Given the description of an element on the screen output the (x, y) to click on. 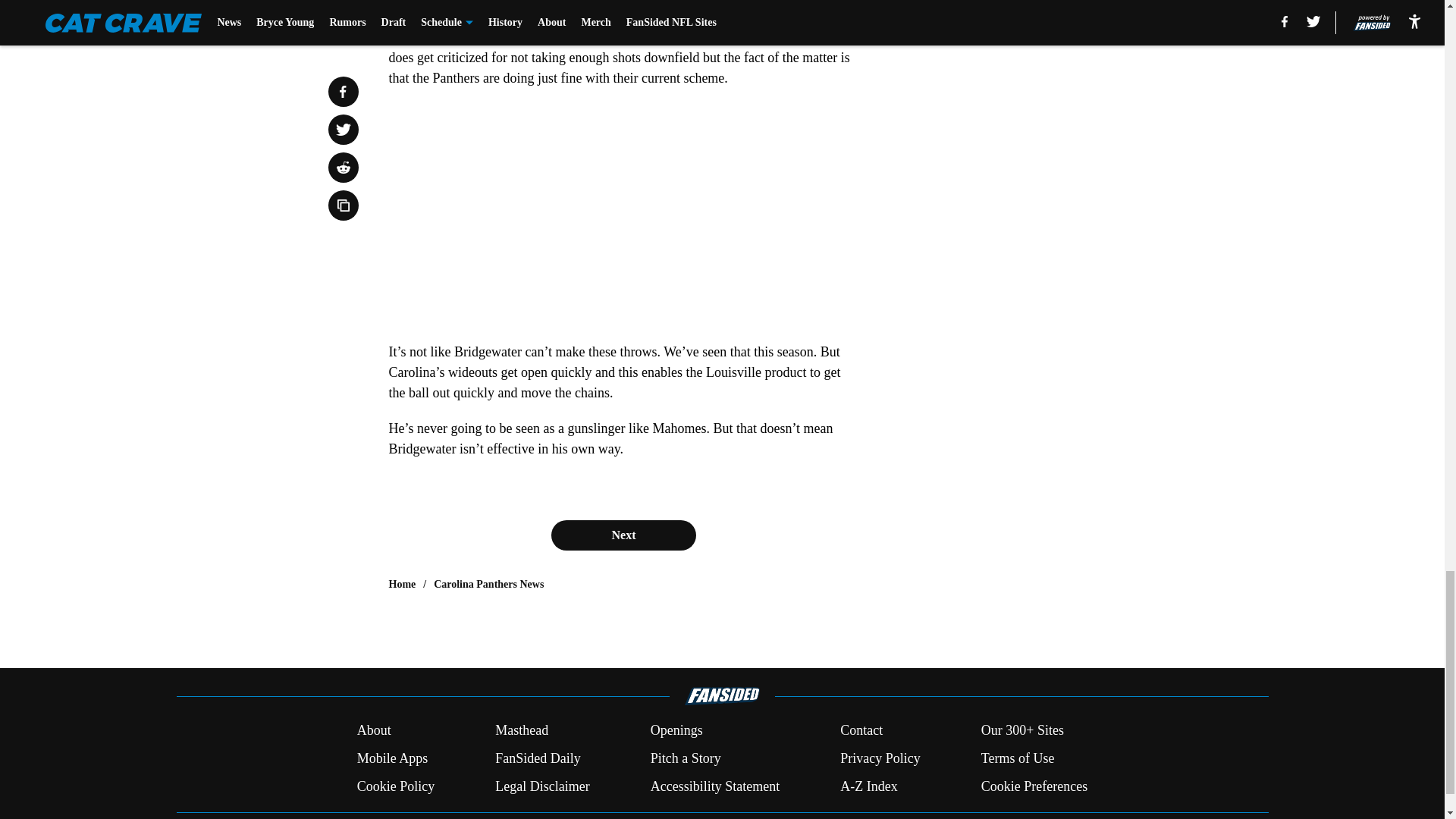
Next (622, 535)
Carolina Panthers News (488, 584)
Mobile Apps (392, 758)
Openings (676, 730)
Home (401, 584)
About (373, 730)
Contact (861, 730)
FanSided Daily (537, 758)
Masthead (521, 730)
